Given the description of an element on the screen output the (x, y) to click on. 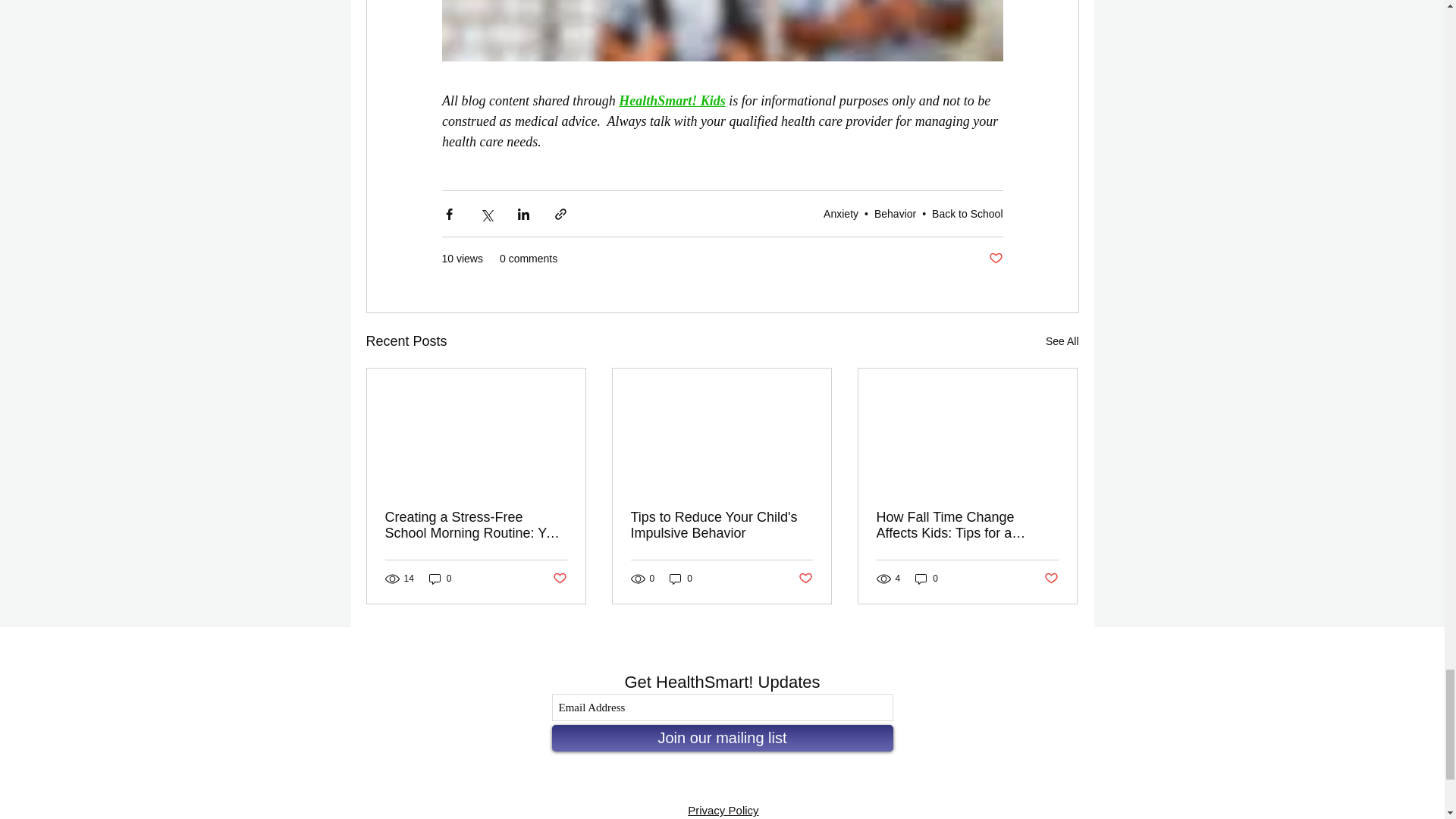
Tips to Reduce Your Child's Impulsive Behavior (721, 525)
0 (440, 578)
Post not marked as liked (995, 258)
0 (681, 578)
HealthSmart! Kids (671, 100)
Post not marked as liked (558, 578)
Back to School (967, 214)
Behavior (895, 214)
Creating a Stress-Free School Morning Routine: Your Guide (476, 525)
Anxiety (841, 214)
See All (1061, 341)
Post not marked as liked (804, 578)
